Given the description of an element on the screen output the (x, y) to click on. 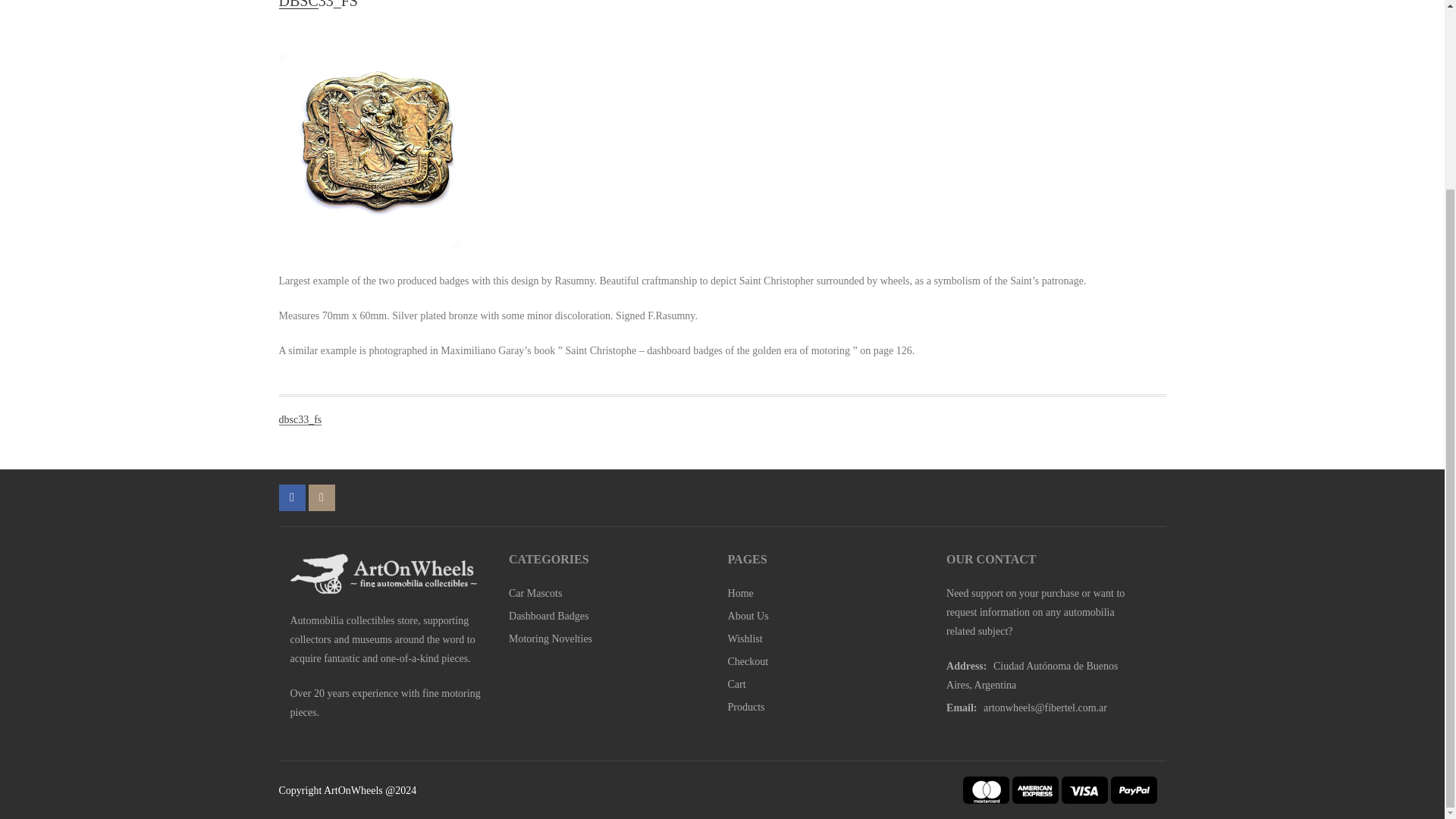
Products (746, 706)
Dashboard Badges (548, 615)
Wishlist (745, 638)
Car Mascots (535, 593)
About Us (748, 615)
Checkout (748, 661)
Motoring Novelties (550, 638)
Home (741, 593)
Cart (736, 684)
